Given the description of an element on the screen output the (x, y) to click on. 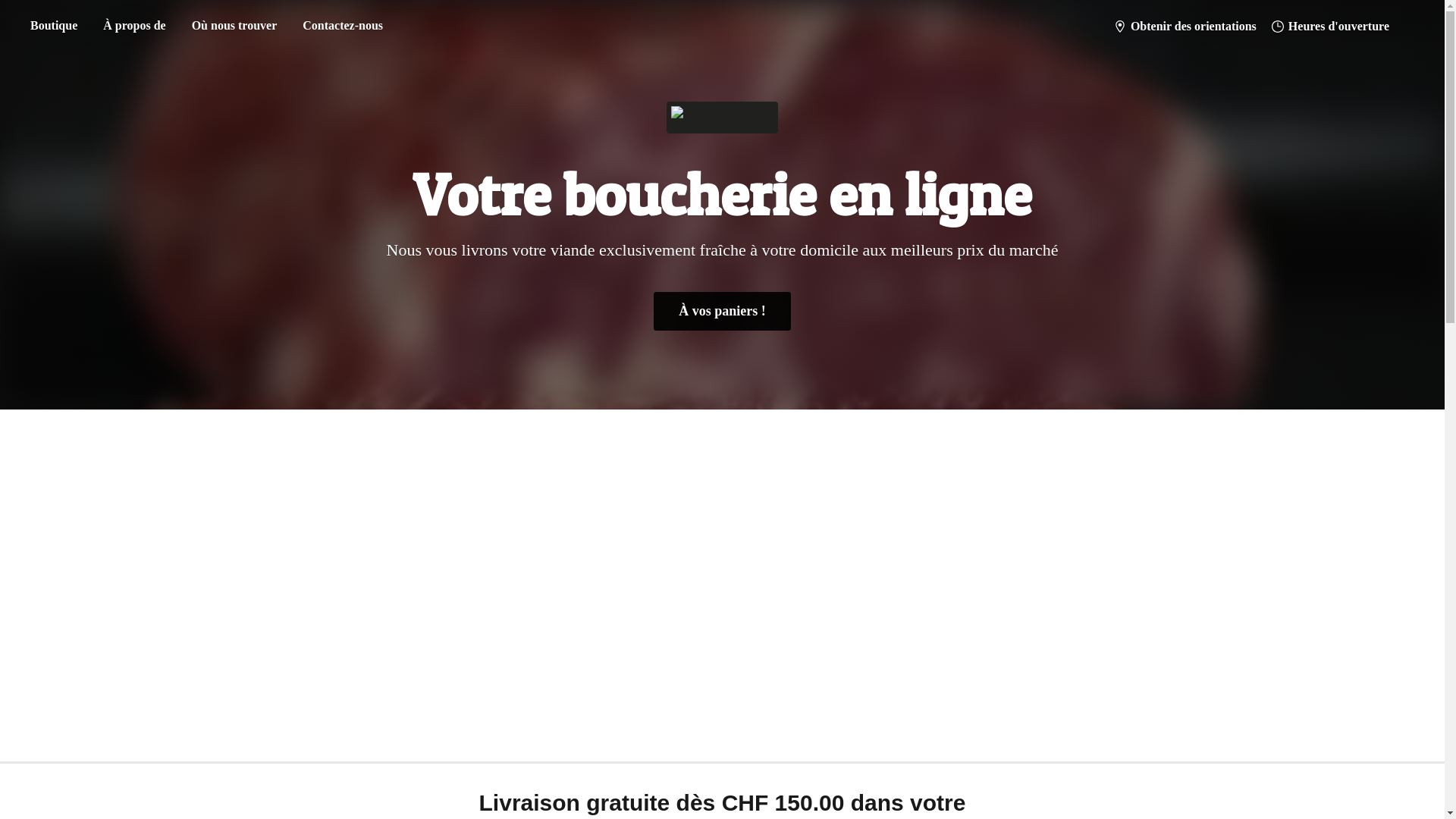
Boutique Element type: text (53, 26)
Contactez-nous Element type: text (342, 26)
Obtenir des orientations Element type: text (1185, 26)
Heures d'ouverture Element type: text (1330, 26)
